Given the description of an element on the screen output the (x, y) to click on. 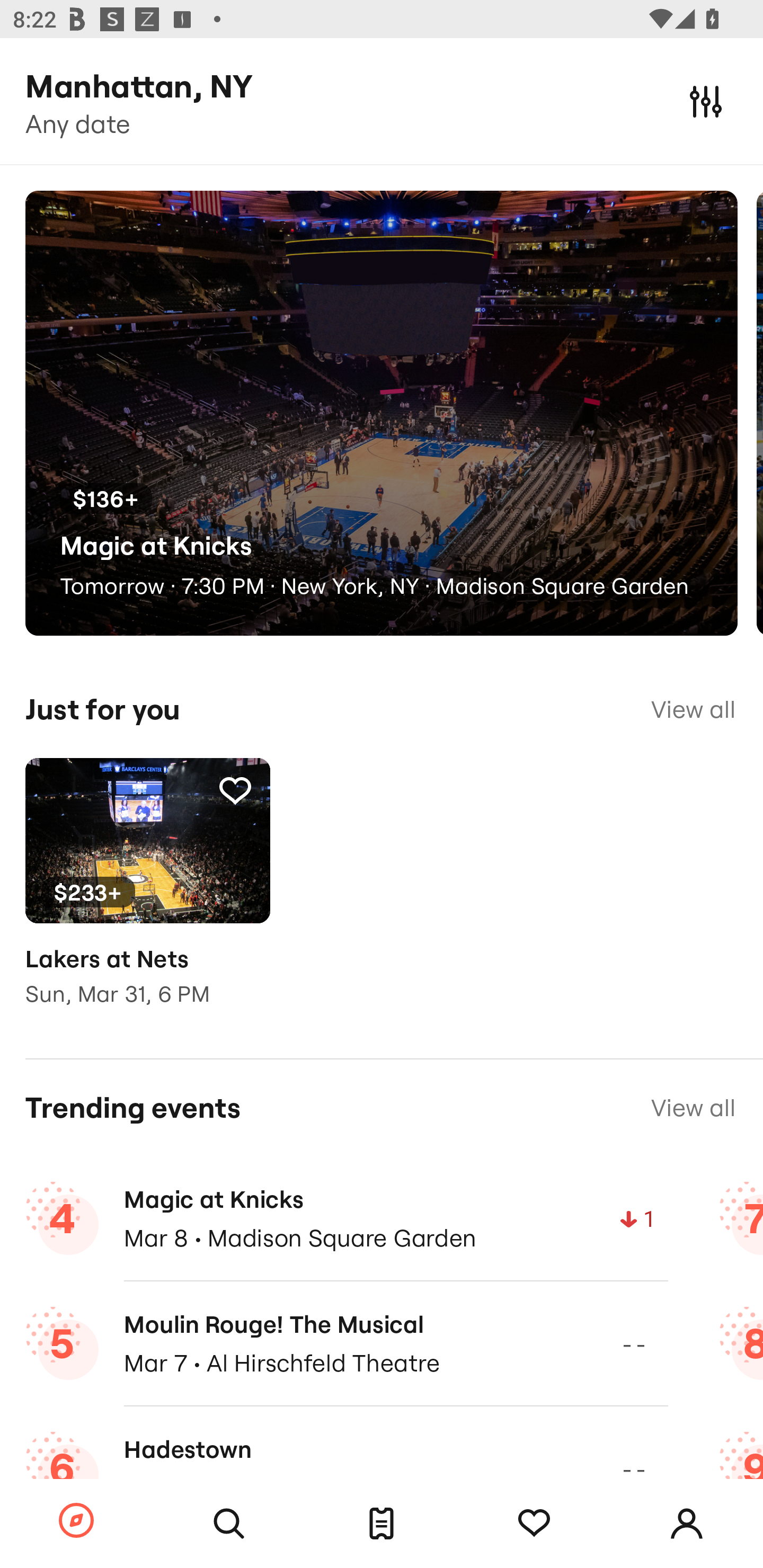
Filters (705, 100)
View all (693, 709)
Tracking $233+ Lakers at Nets Sun, Mar 31, 6 PM (147, 895)
Tracking (234, 790)
View all (693, 1108)
Browse (76, 1521)
Search (228, 1523)
Tickets (381, 1523)
Tracking (533, 1523)
Account (686, 1523)
